Given the description of an element on the screen output the (x, y) to click on. 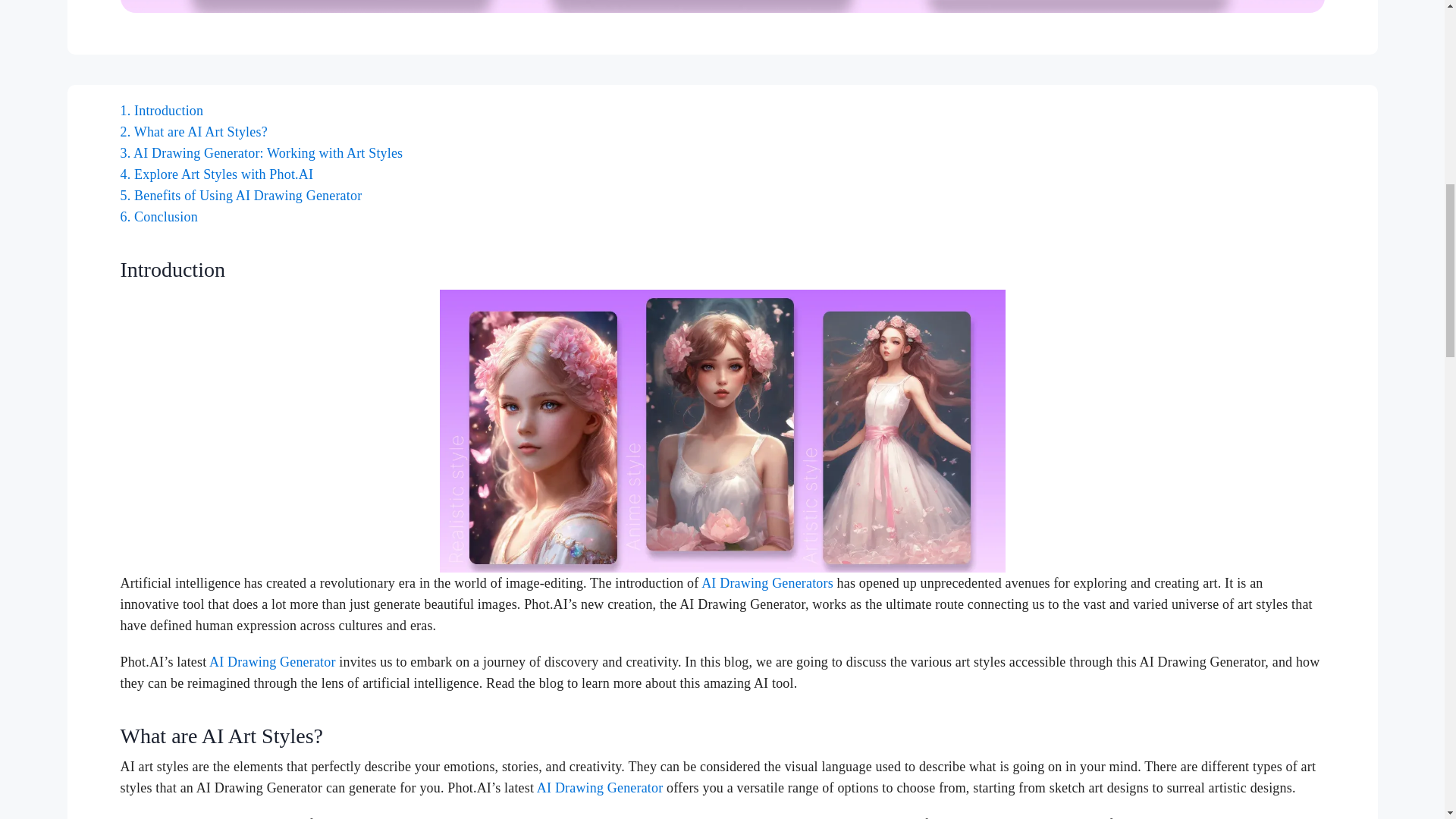
3. AI Drawing Generator: Working with Art Styles (261, 152)
2. What are AI Art Styles? (192, 131)
1. Introduction (161, 110)
4. Explore Art Styles with Phot.AI (216, 174)
